Given the description of an element on the screen output the (x, y) to click on. 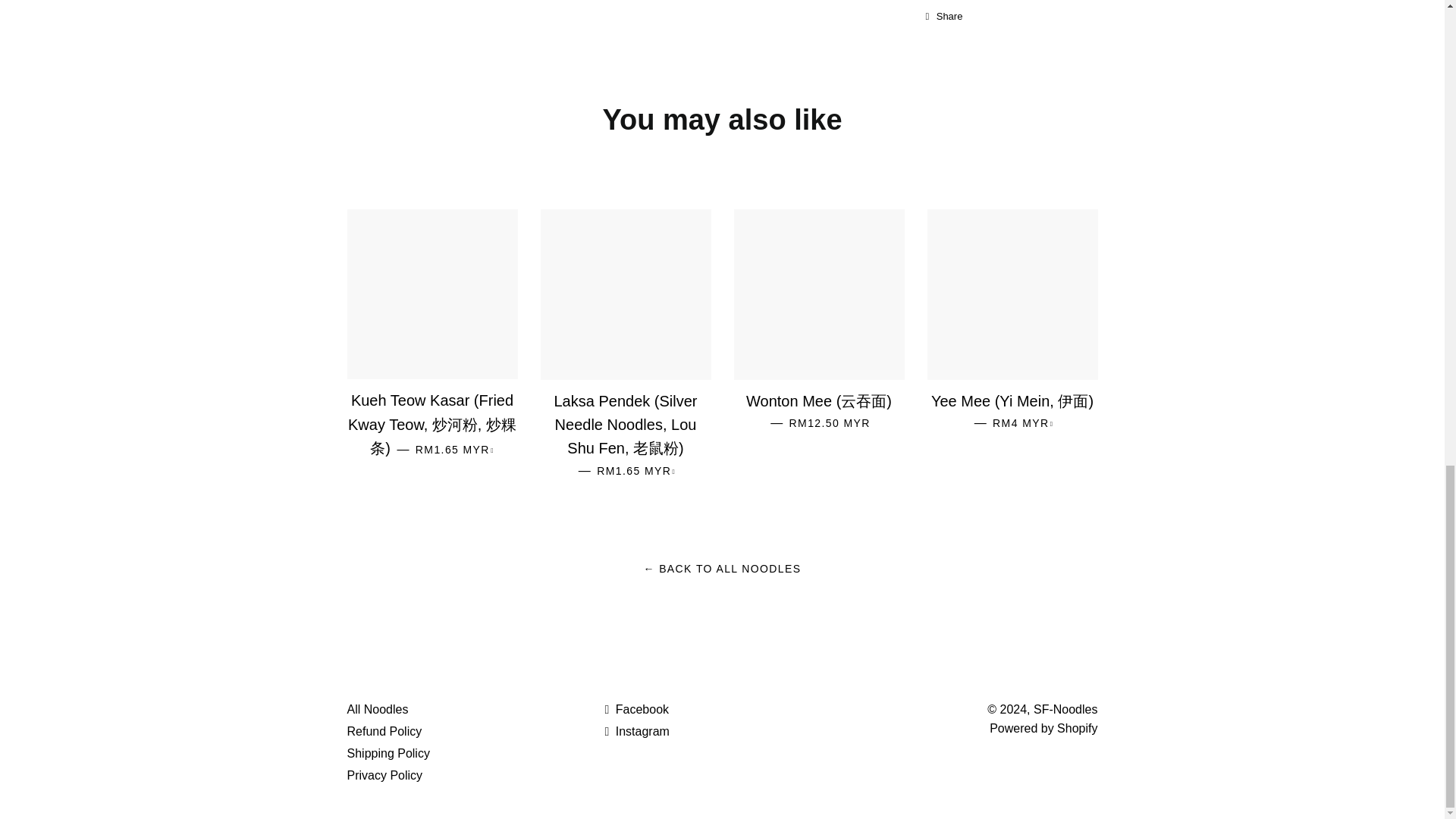
Share on Facebook (944, 15)
SF-Noodles on Facebook (636, 708)
SF-Noodles on Instagram (636, 730)
